Given the description of an element on the screen output the (x, y) to click on. 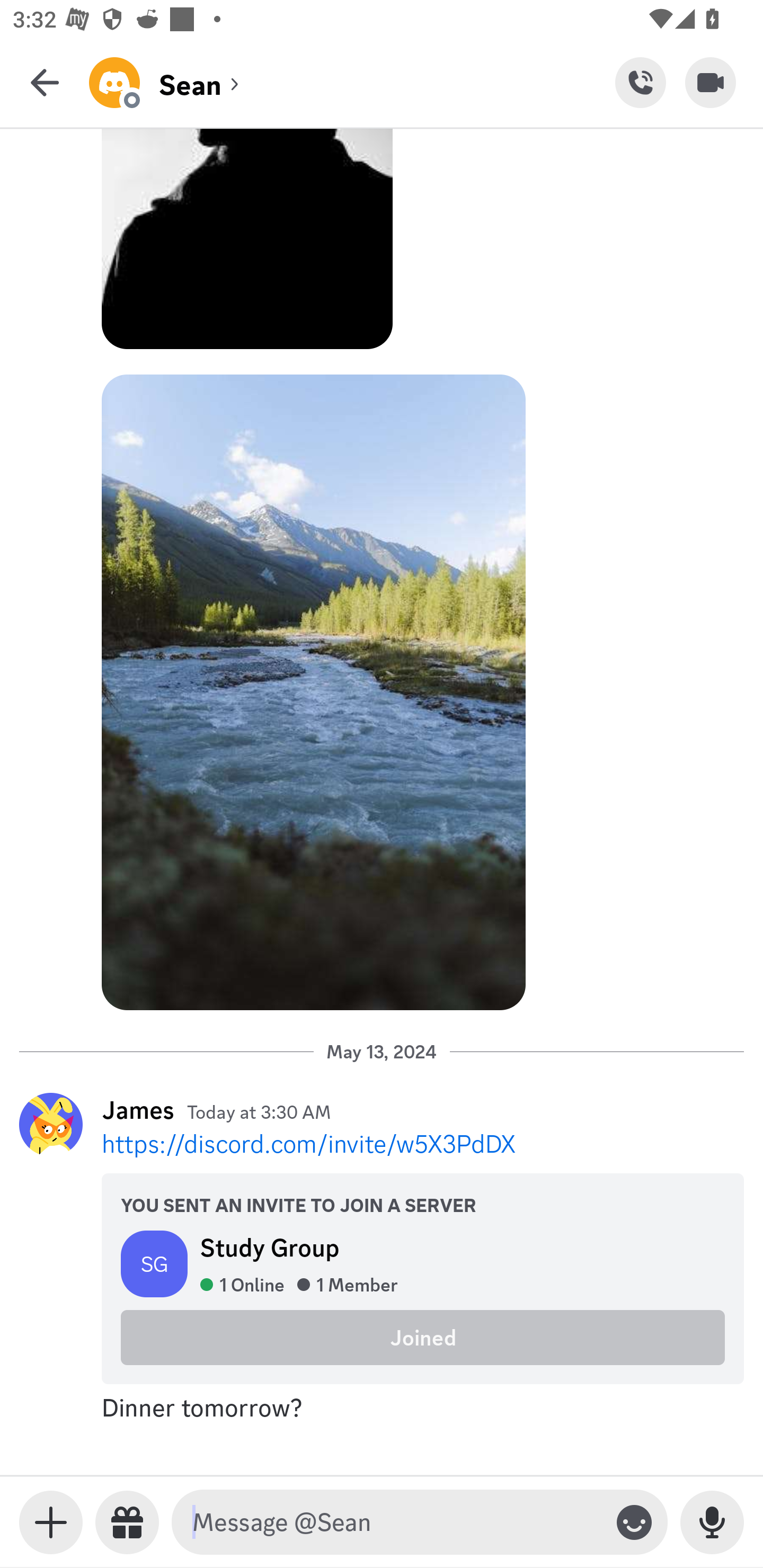
Sean (channel) Sean Sean (channel) (351, 82)
Back (44, 82)
Start Voice Call (640, 82)
Start Video Call (710, 82)
James (137, 1109)
Joined (422, 1337)
ssseannn007., Dinner tomorrow? Dinner tomorrow? (381, 1406)
Toggle media keyboard (50, 1522)
Send a gift (126, 1522)
Record Voice Message (711, 1522)
Message @Sean (395, 1522)
Toggle emoji keyboard (634, 1522)
